Given the description of an element on the screen output the (x, y) to click on. 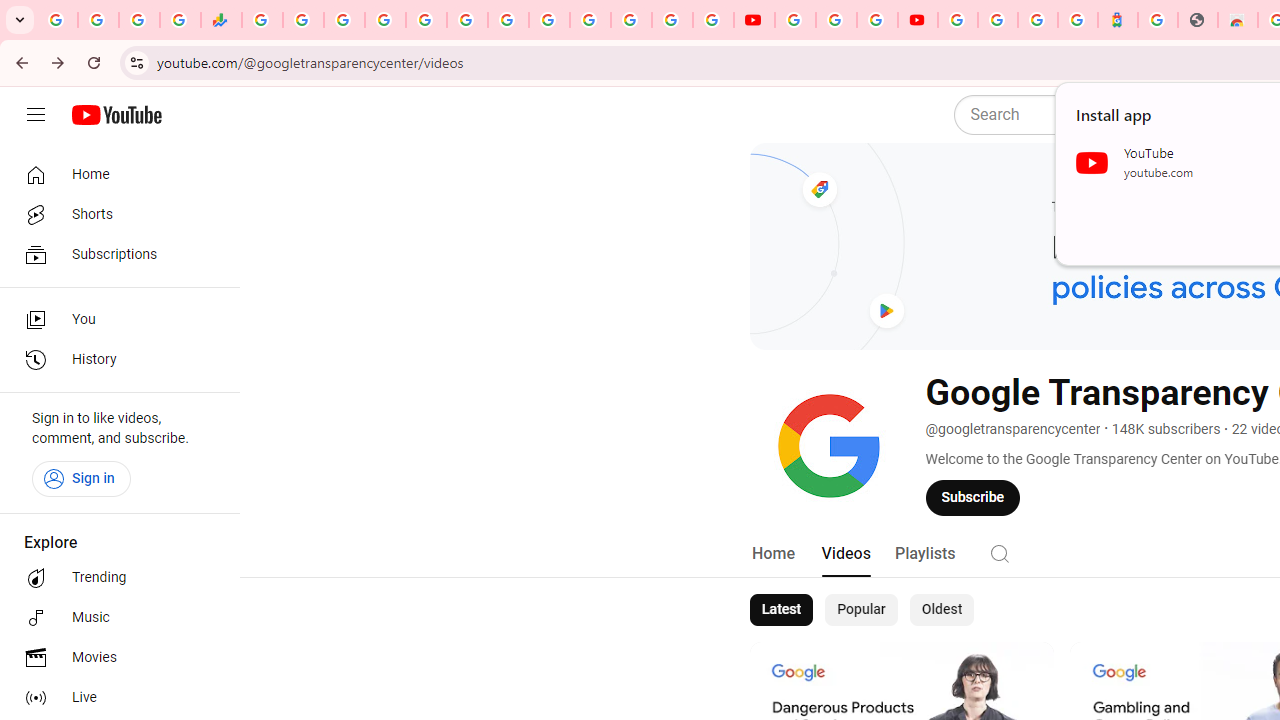
Chrome Web Store - Household (1238, 20)
Trending (113, 578)
Create your Google Account (877, 20)
Subscribe (973, 497)
Music (113, 617)
Live (113, 697)
Sign in - Google Accounts (671, 20)
YouTube (795, 20)
Android TV Policies and Guidelines - Transparency Center (507, 20)
